Given the description of an element on the screen output the (x, y) to click on. 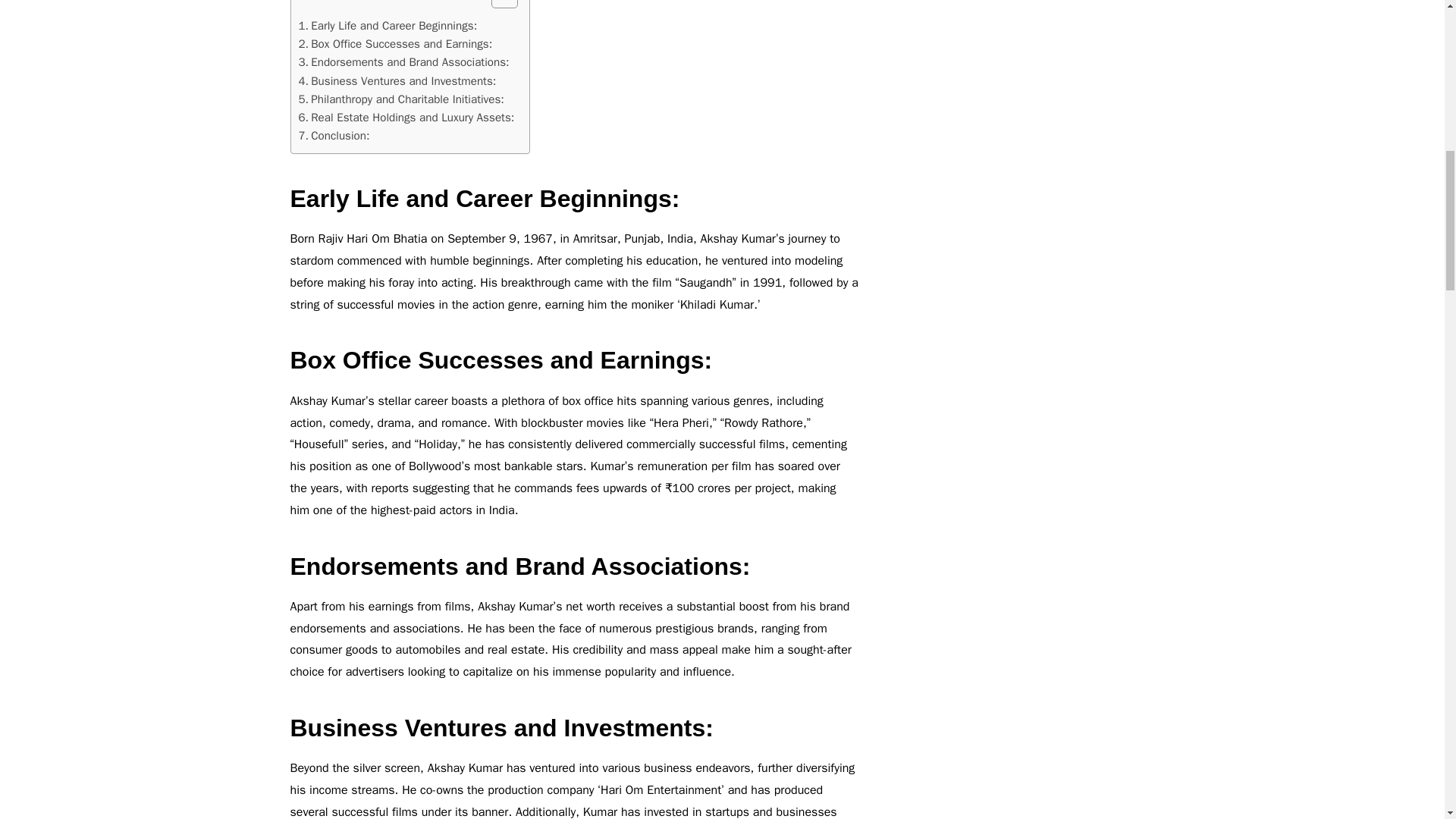
Early Life and Career Beginnings: (387, 25)
Early Life and Career Beginnings: (387, 25)
Business Ventures and Investments: (397, 80)
Philanthropy and Charitable Initiatives: (400, 99)
Philanthropy and Charitable Initiatives: (400, 99)
Real Estate Holdings and Luxury Assets: (406, 117)
Business Ventures and Investments: (397, 80)
Real Estate Holdings and Luxury Assets: (406, 117)
Conclusion: (333, 135)
Endorsements and Brand Associations: (403, 62)
